Given the description of an element on the screen output the (x, y) to click on. 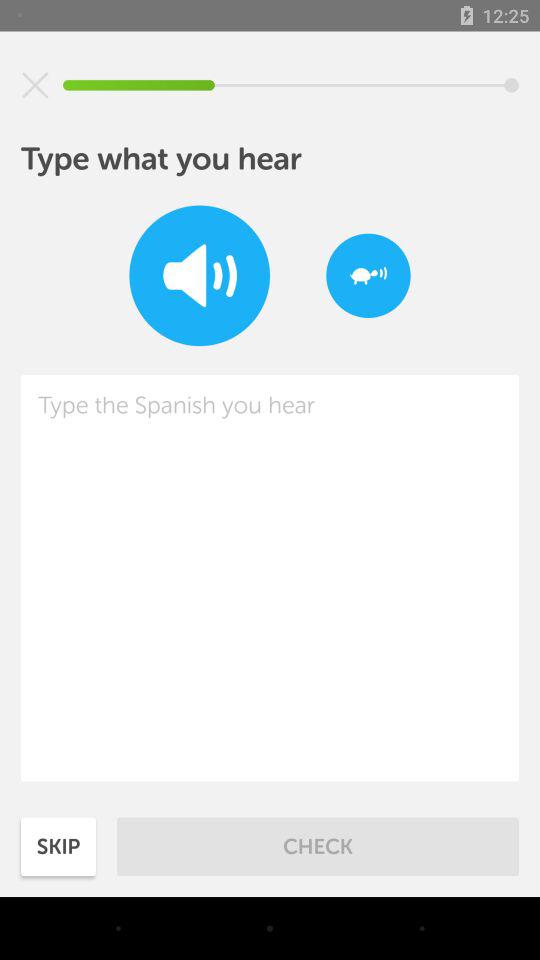
select skip (58, 846)
